Given the description of an element on the screen output the (x, y) to click on. 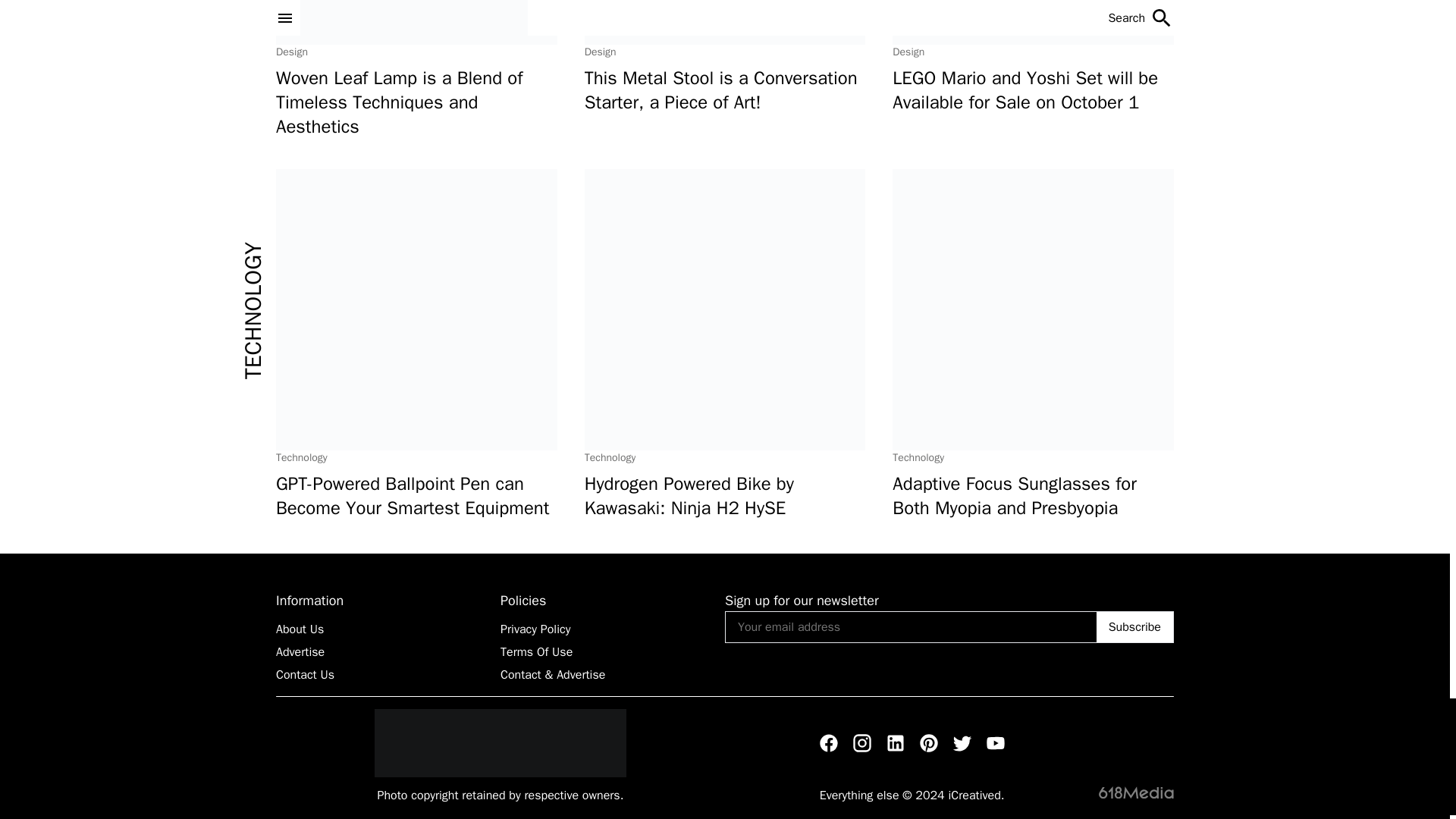
Subscribe (1134, 626)
iCreatived (500, 743)
Created by 618Media.com for iCreatived. (1136, 791)
